Given the description of an element on the screen output the (x, y) to click on. 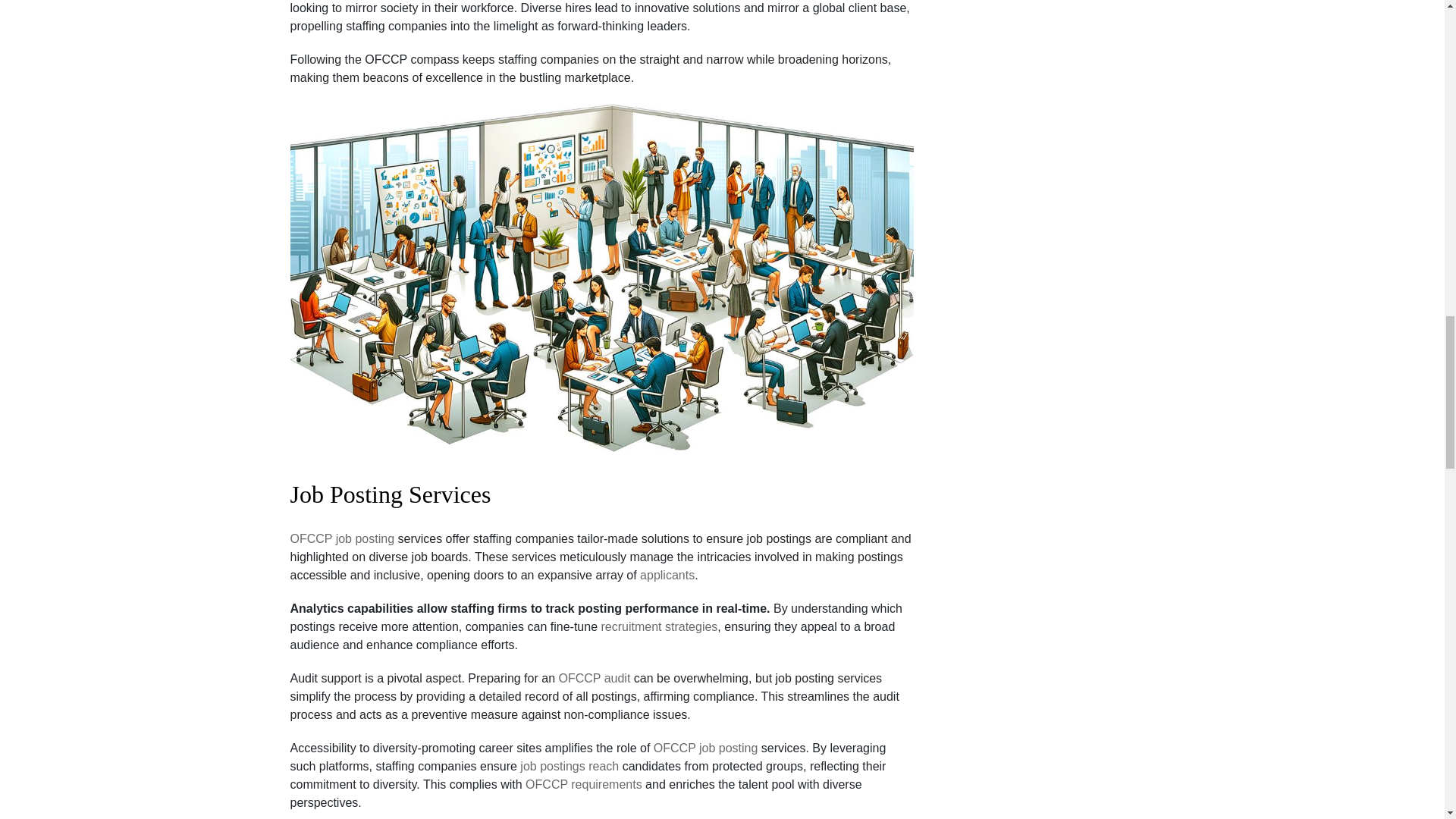
job postings reach (568, 766)
OFCCP requirements (583, 784)
OFCCP job posting (705, 748)
OFCCP audit (593, 678)
recruitment strategies (659, 627)
applicants (667, 575)
OFCCP job posting (341, 538)
